Given the description of an element on the screen output the (x, y) to click on. 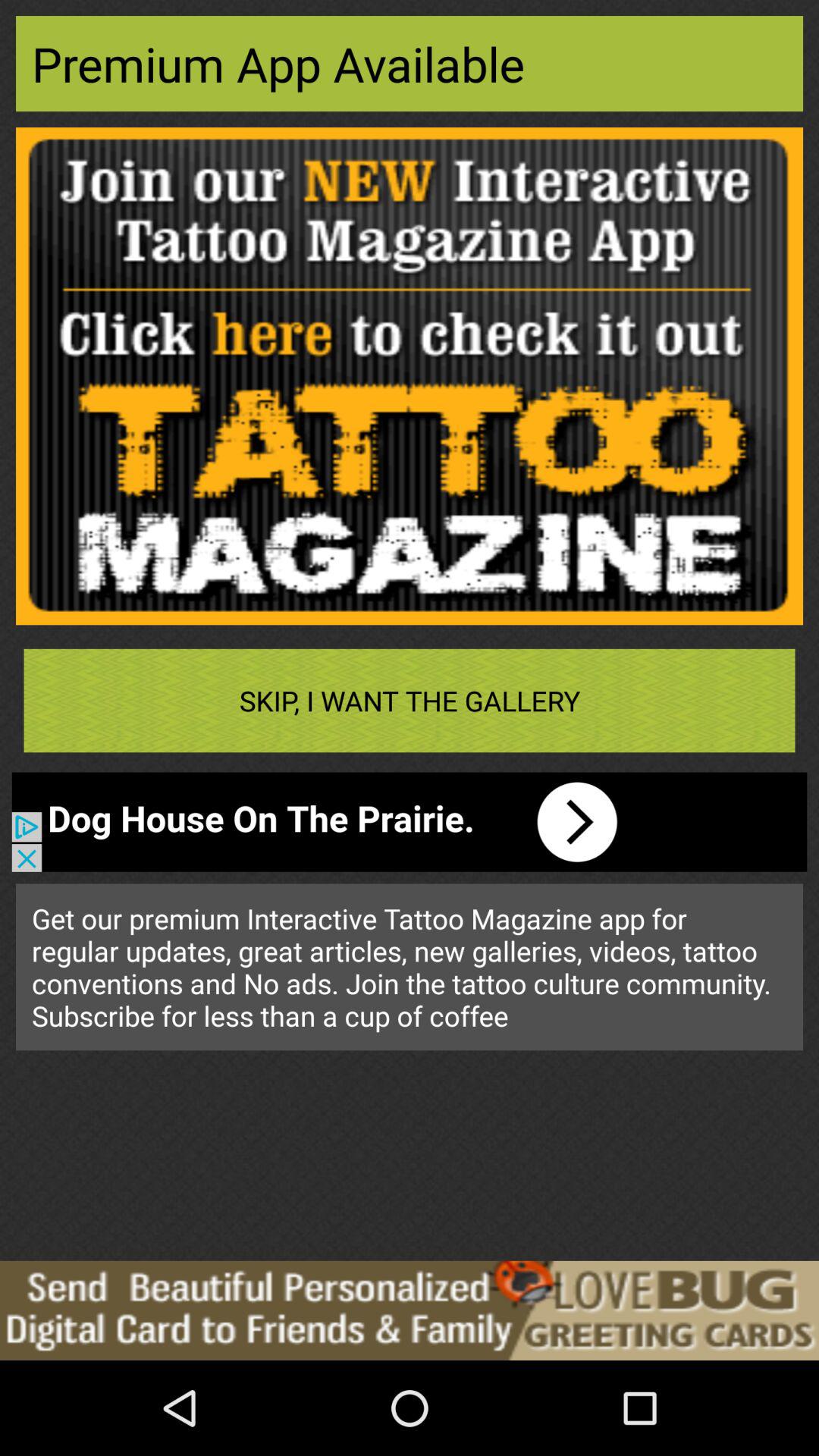
click on the advertisement (409, 1310)
